Given the description of an element on the screen output the (x, y) to click on. 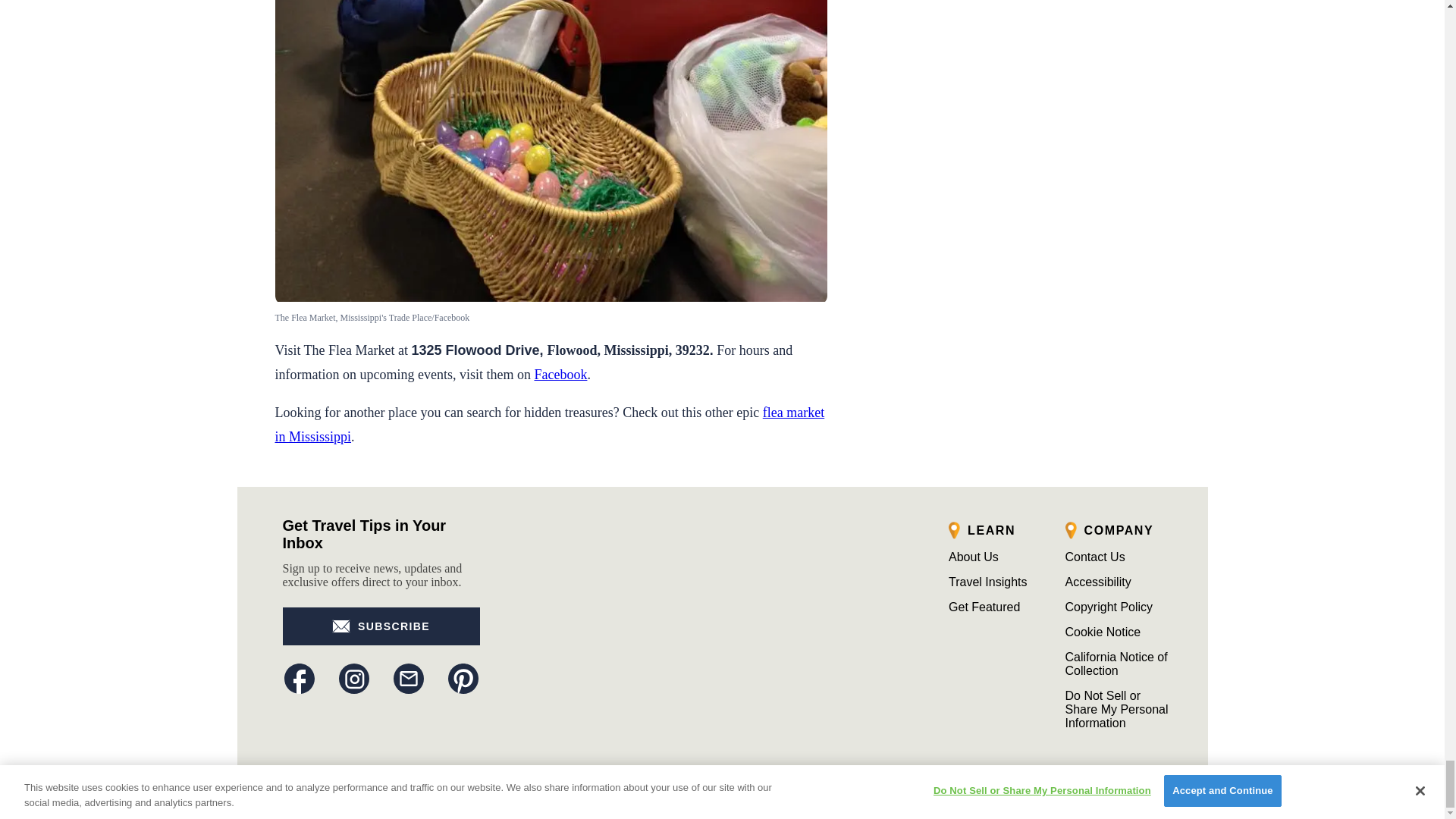
facebook (298, 678)
instagram (352, 678)
newsletter (408, 678)
pinterest (461, 678)
